Given the description of an element on the screen output the (x, y) to click on. 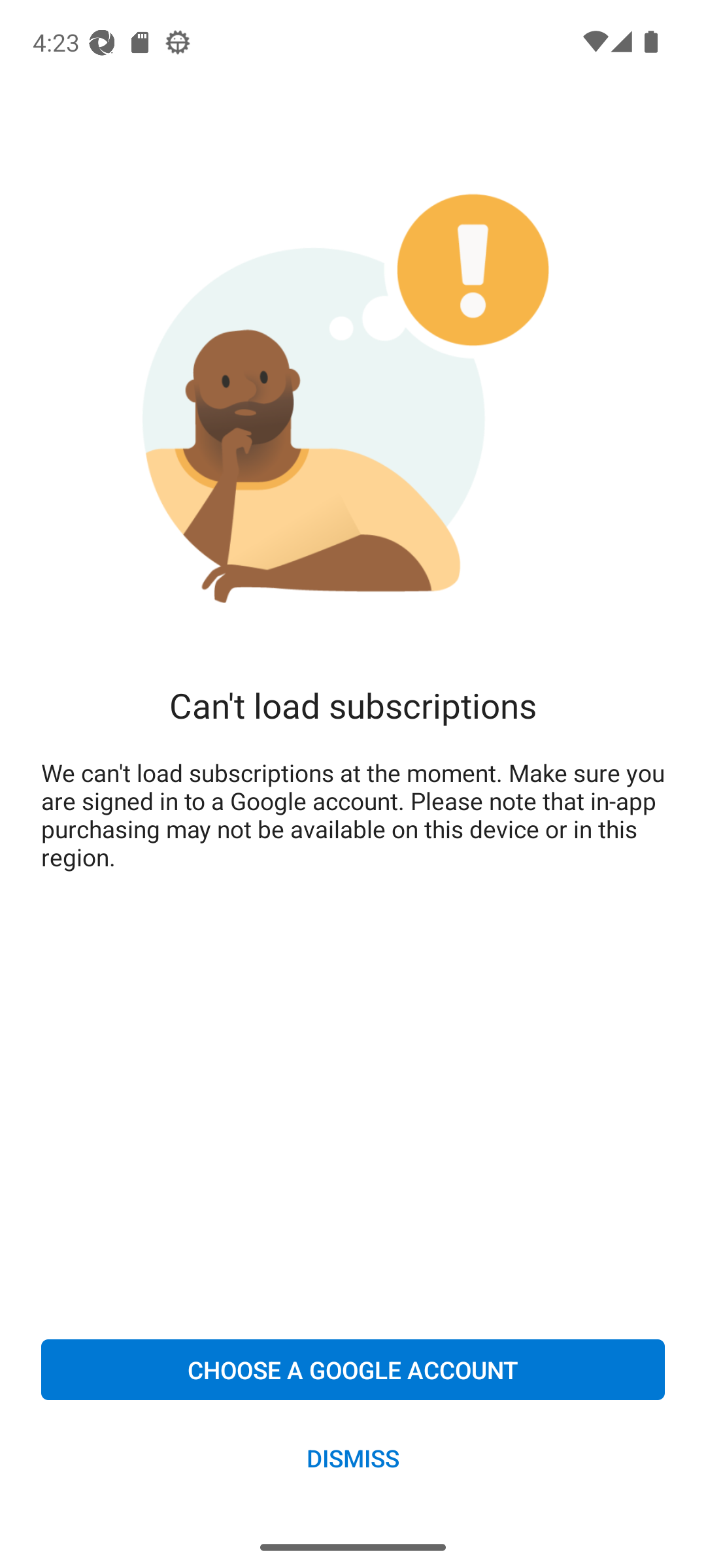
CHOOSE A GOOGLE ACCOUNT (352, 1369)
DISMISS (352, 1457)
